Given the description of an element on the screen output the (x, y) to click on. 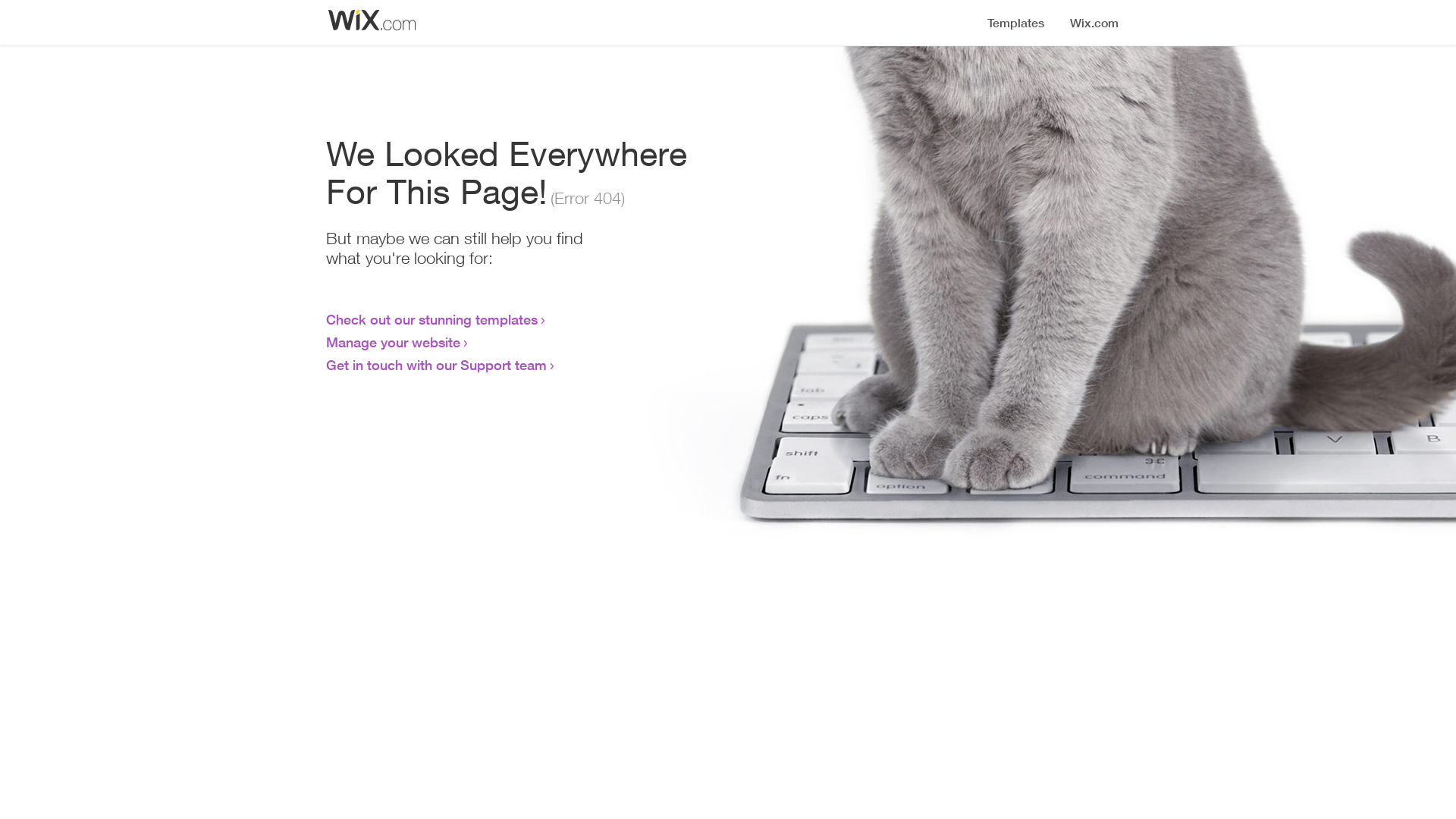
Manage your website Element type: text (393, 341)
Get in touch with our Support team Element type: text (436, 364)
Check out our stunning templates Element type: text (431, 318)
